Given the description of an element on the screen output the (x, y) to click on. 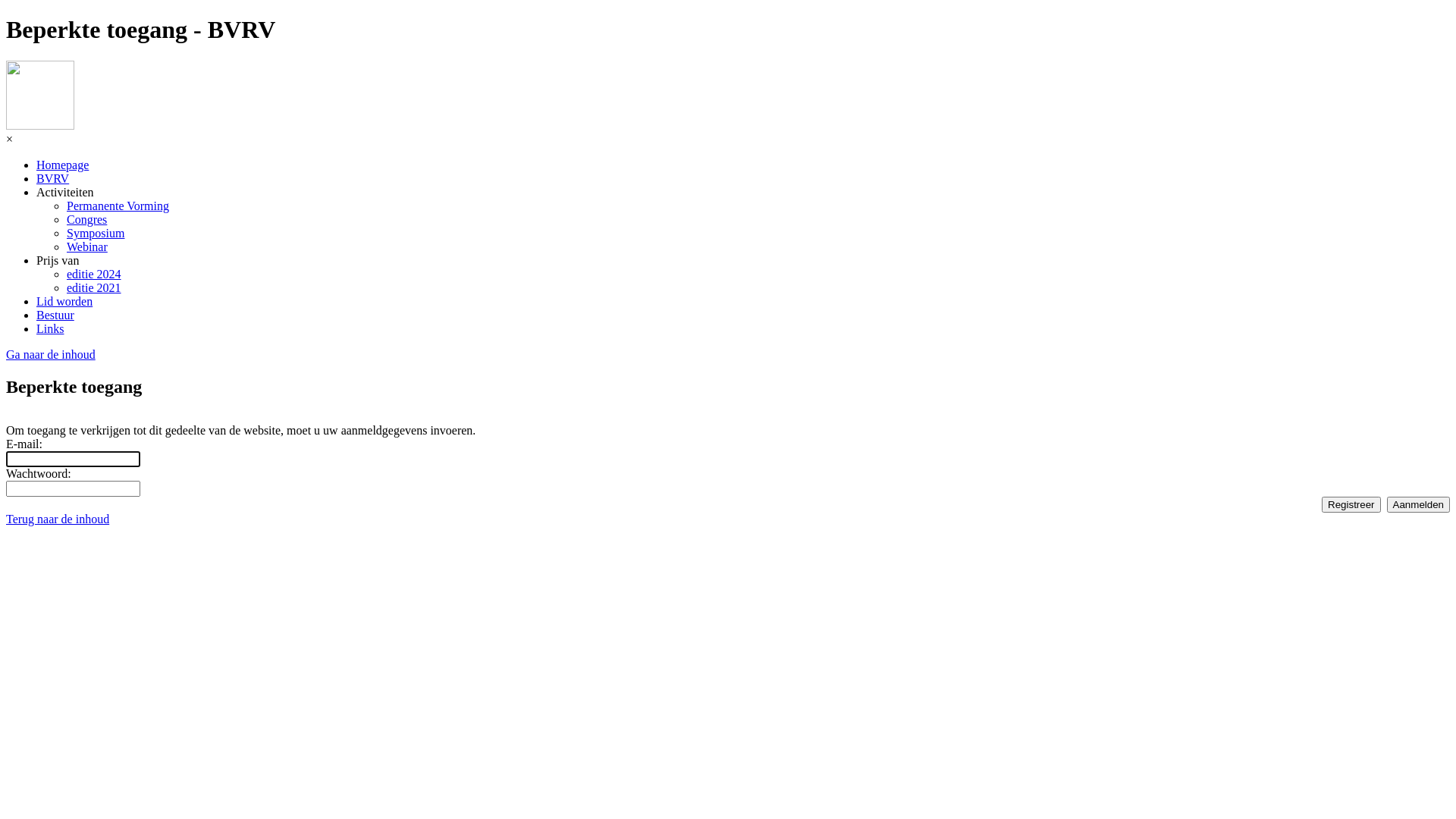
BVRV Element type: text (52, 178)
Registreer Element type: text (1350, 504)
editie 2021 Element type: text (93, 287)
Lid worden Element type: text (64, 300)
Congres Element type: text (86, 219)
Ga naar de inhoud Element type: text (50, 354)
Terug naar de inhoud Element type: text (57, 518)
Webinar Element type: text (86, 246)
Permanente Vorming Element type: text (117, 205)
Links Element type: text (49, 328)
editie 2024 Element type: text (93, 273)
Bestuur Element type: text (55, 314)
Aanmelden Element type: text (1417, 504)
Homepage Element type: text (62, 164)
Symposium Element type: text (95, 232)
